Given the description of an element on the screen output the (x, y) to click on. 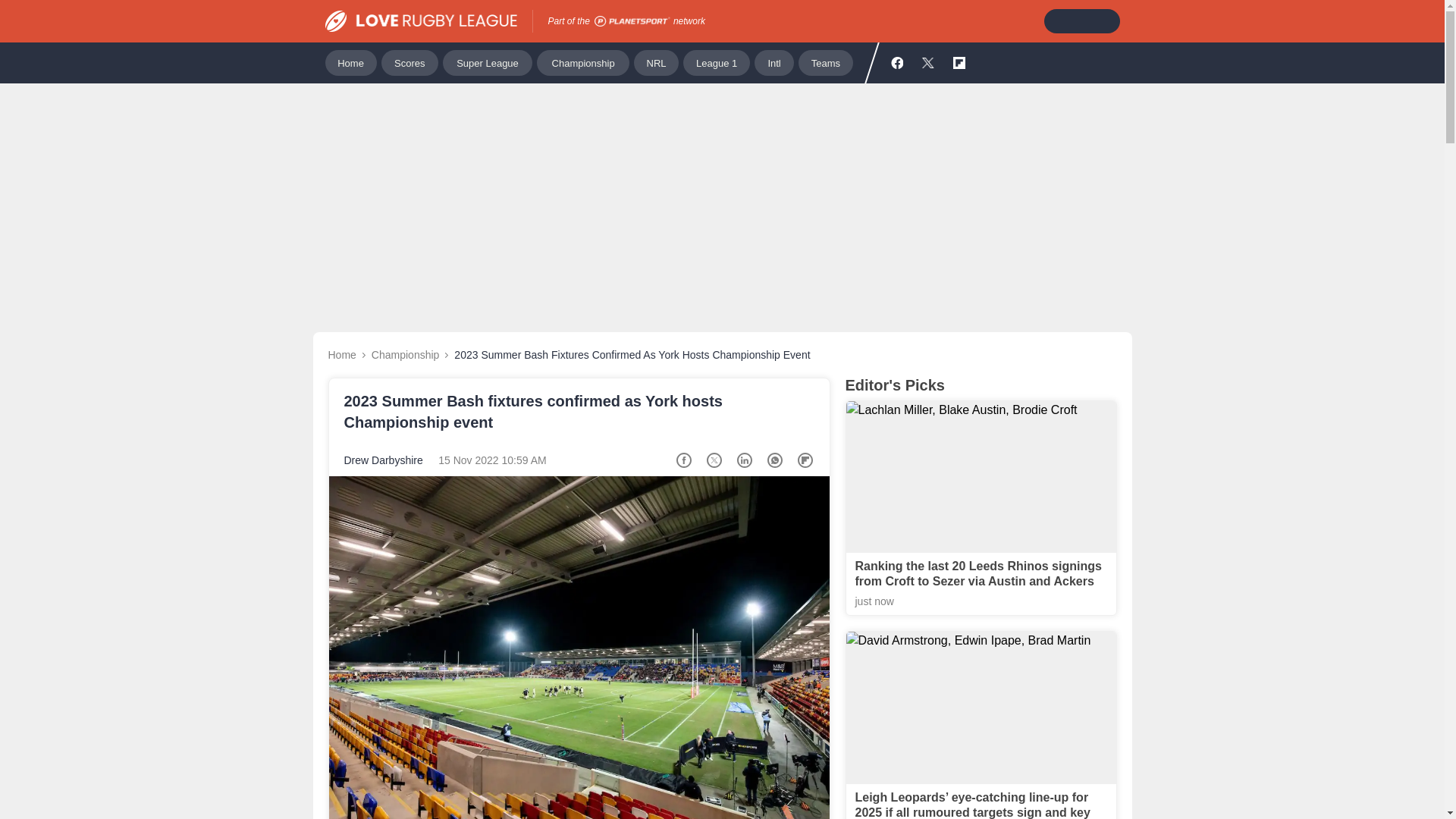
Championship (582, 62)
Home (341, 354)
Intl (773, 62)
Home (349, 62)
League 1 (715, 62)
Championship (405, 354)
Scores (409, 62)
NRL (655, 62)
Drew Darbyshire (383, 460)
Super League (487, 62)
Teams (825, 62)
